Given the description of an element on the screen output the (x, y) to click on. 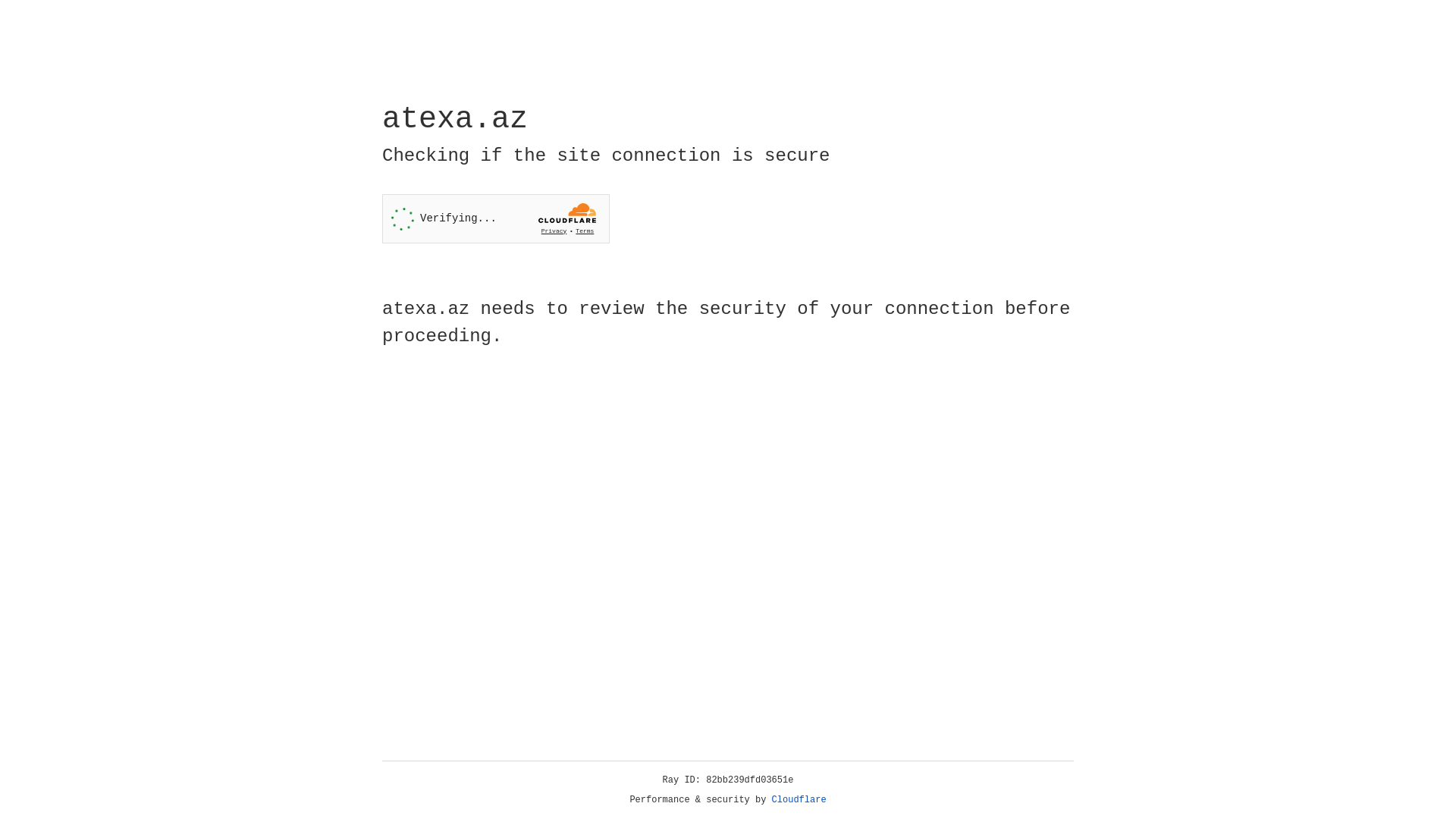
Cloudflare Element type: text (798, 799)
Widget containing a Cloudflare security challenge Element type: hover (495, 218)
